Given the description of an element on the screen output the (x, y) to click on. 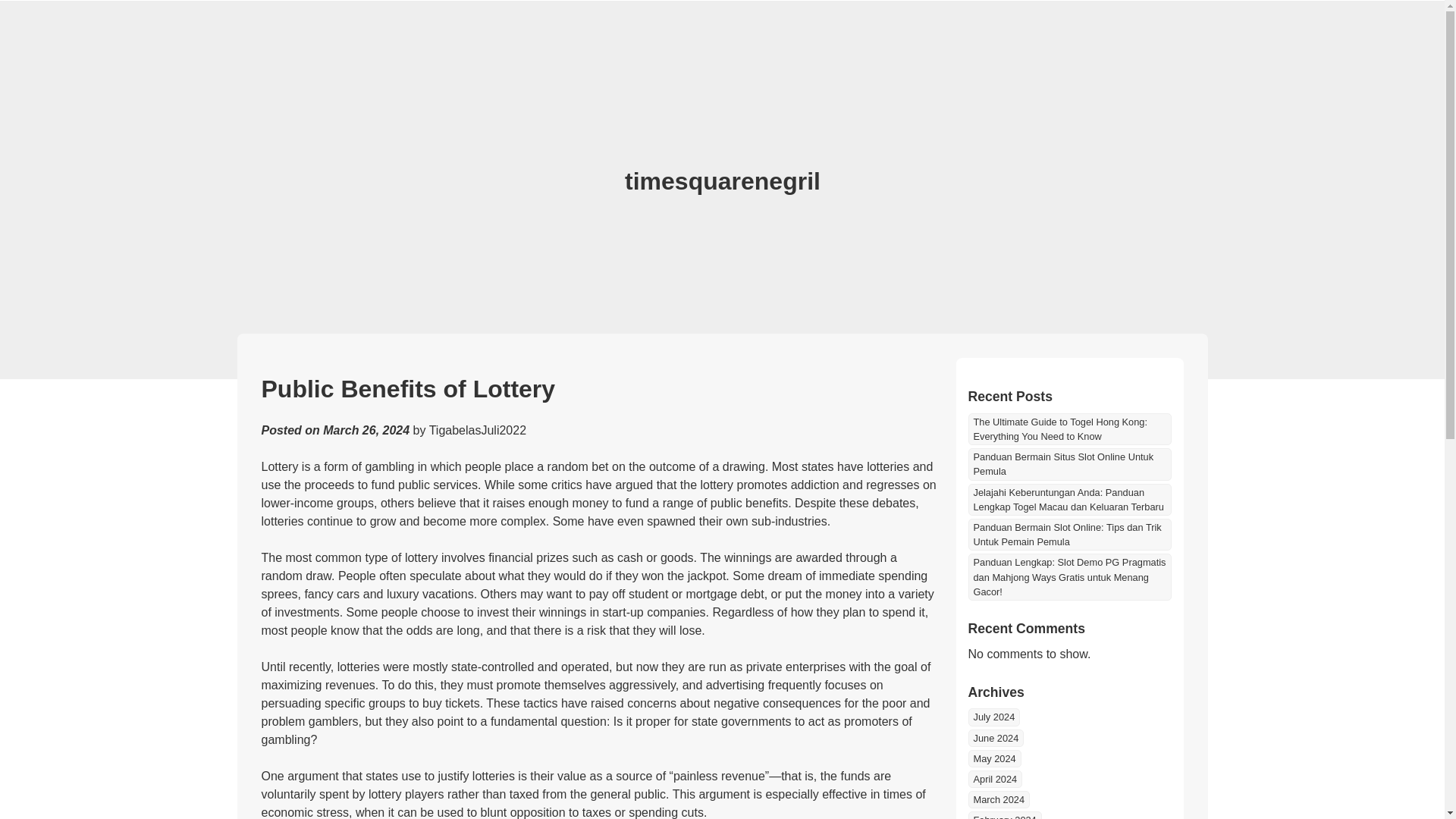
TigabelasJuli2022 (477, 430)
February 2024 (1004, 815)
July 2024 (994, 716)
Panduan Bermain Situs Slot Online Untuk Pemula (1069, 463)
March 2024 (998, 799)
March 26, 2024 (366, 430)
May 2024 (994, 758)
April 2024 (995, 778)
June 2024 (995, 737)
